Given the description of an element on the screen output the (x, y) to click on. 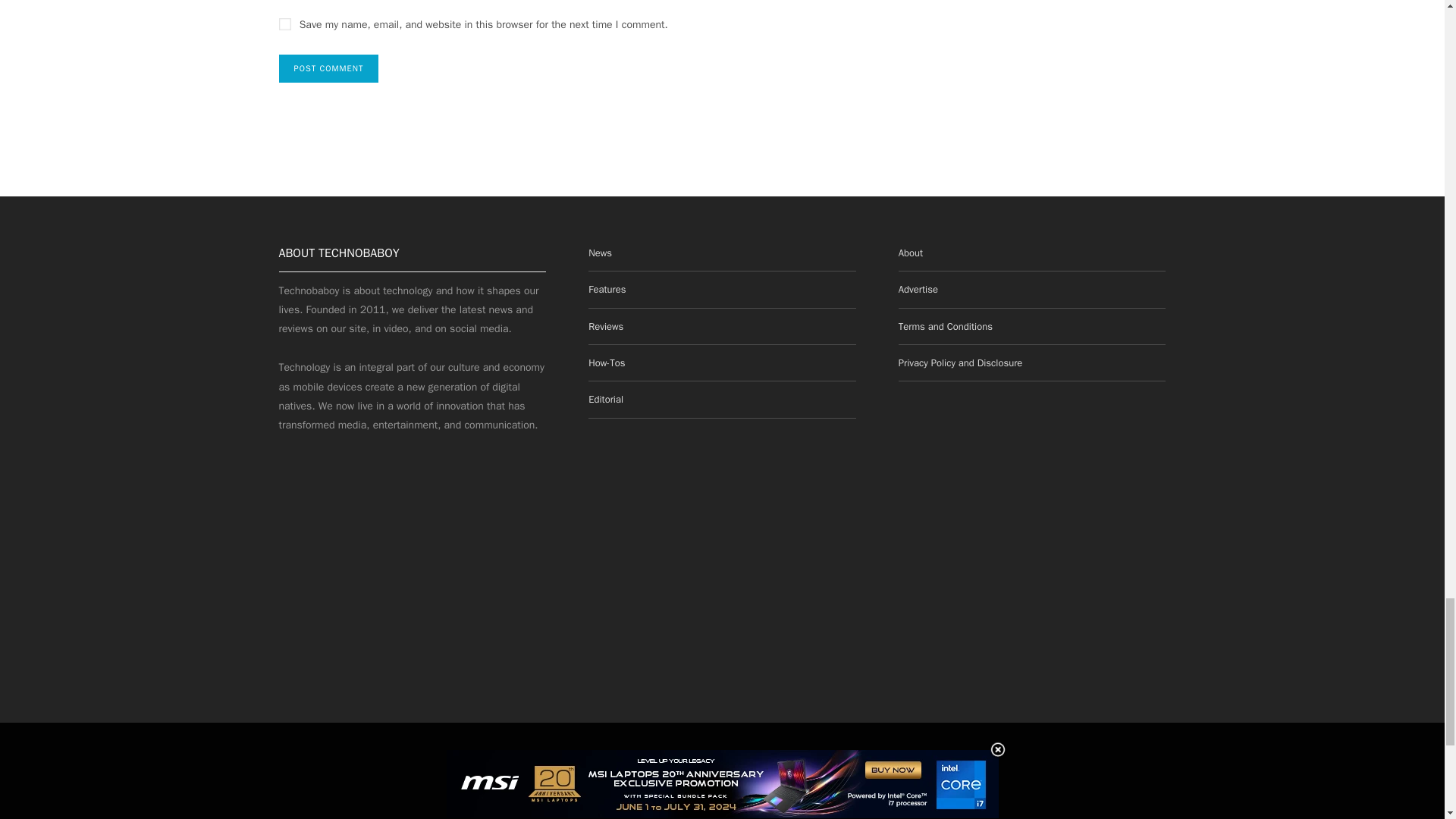
Post Comment (328, 68)
yes (285, 24)
